Given the description of an element on the screen output the (x, y) to click on. 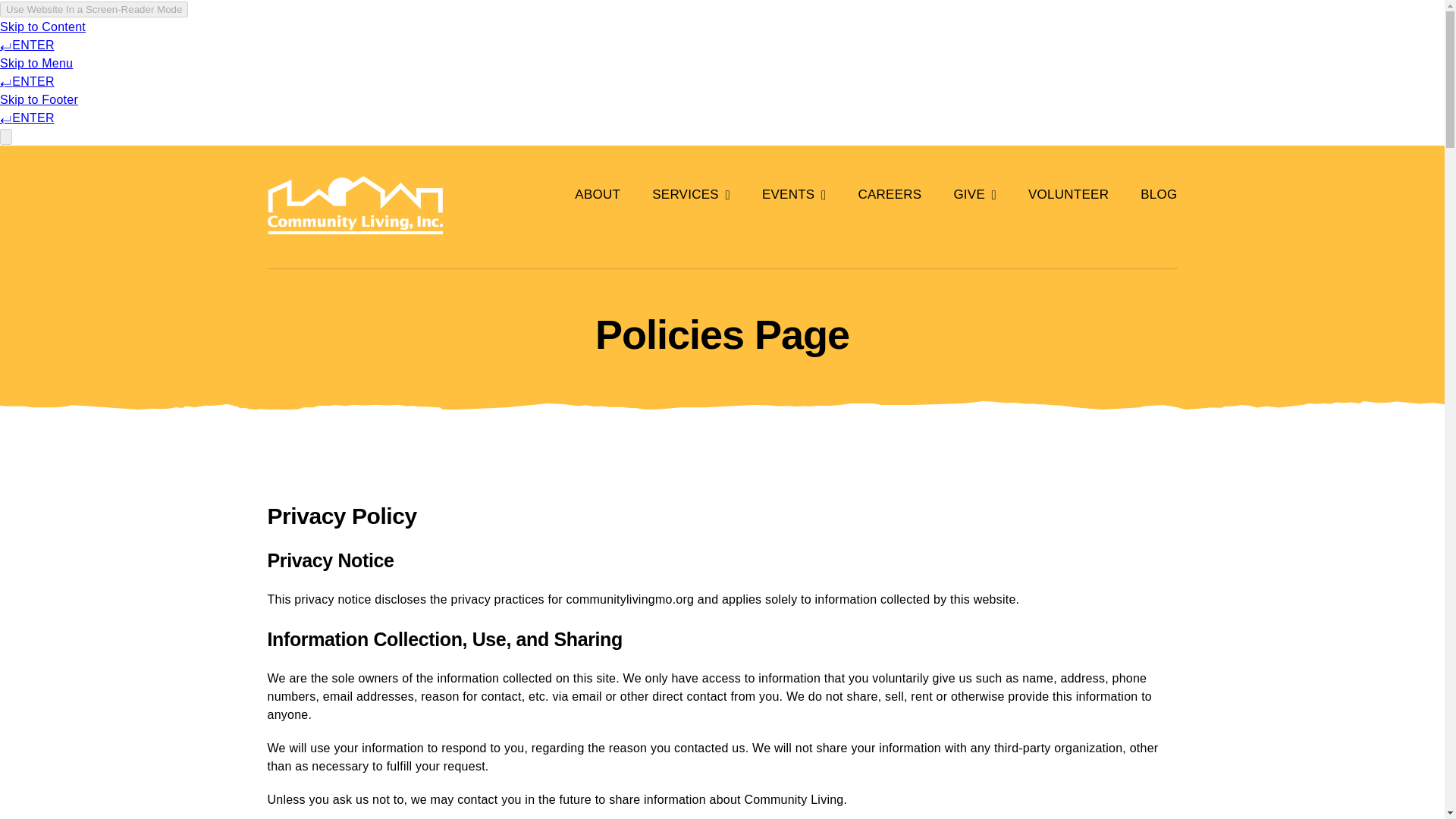
VOLUNTEER (1067, 194)
SERVICES (691, 194)
CAREERS (889, 194)
EVENTS (794, 194)
ABOUT (597, 194)
GIVE (974, 194)
BLOG (1158, 194)
